Given the description of an element on the screen output the (x, y) to click on. 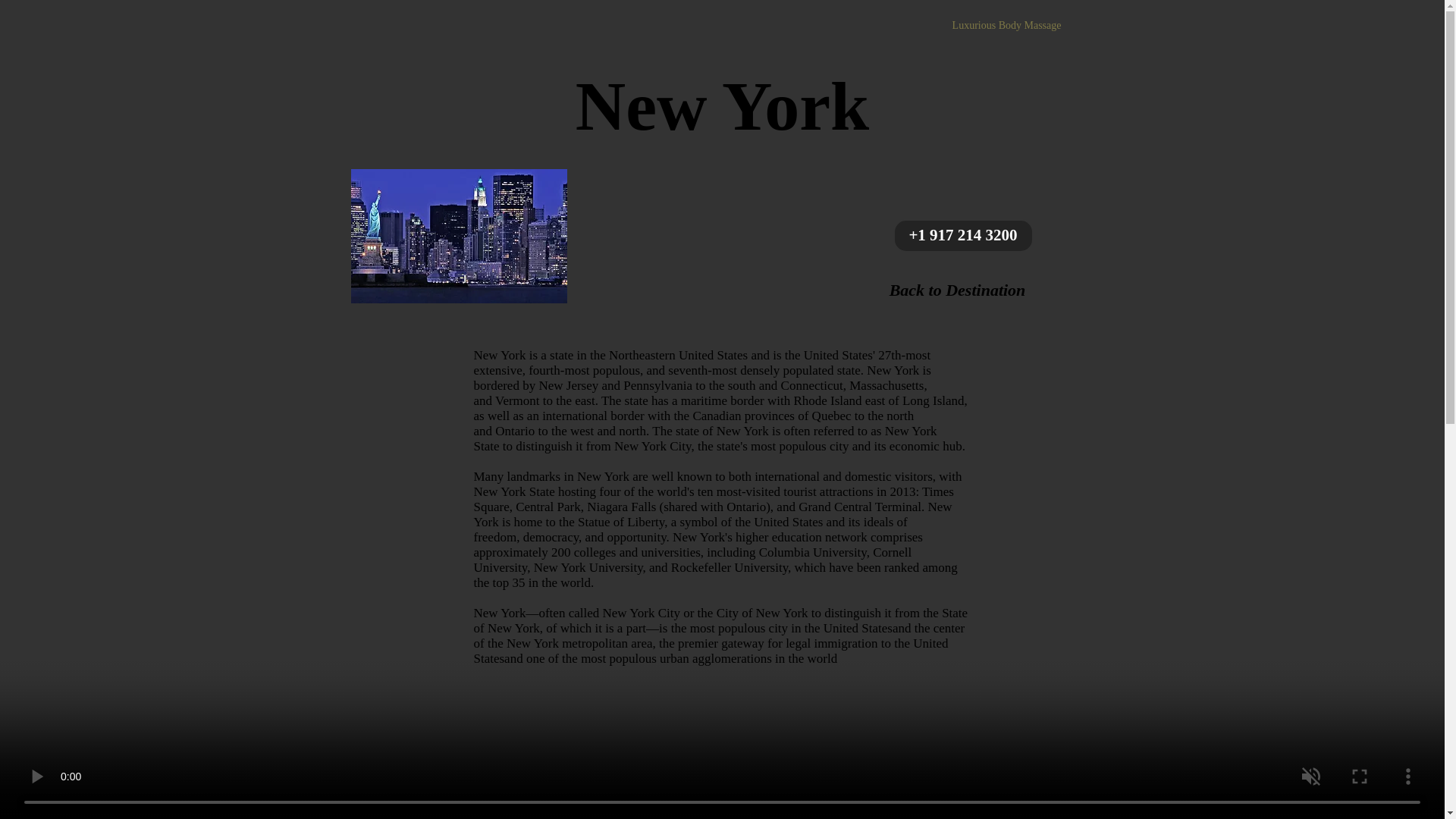
Back to Destination (957, 289)
Luxurious Body Massage (1005, 24)
nyc-dredge-main.jpg (458, 235)
